Given the description of an element on the screen output the (x, y) to click on. 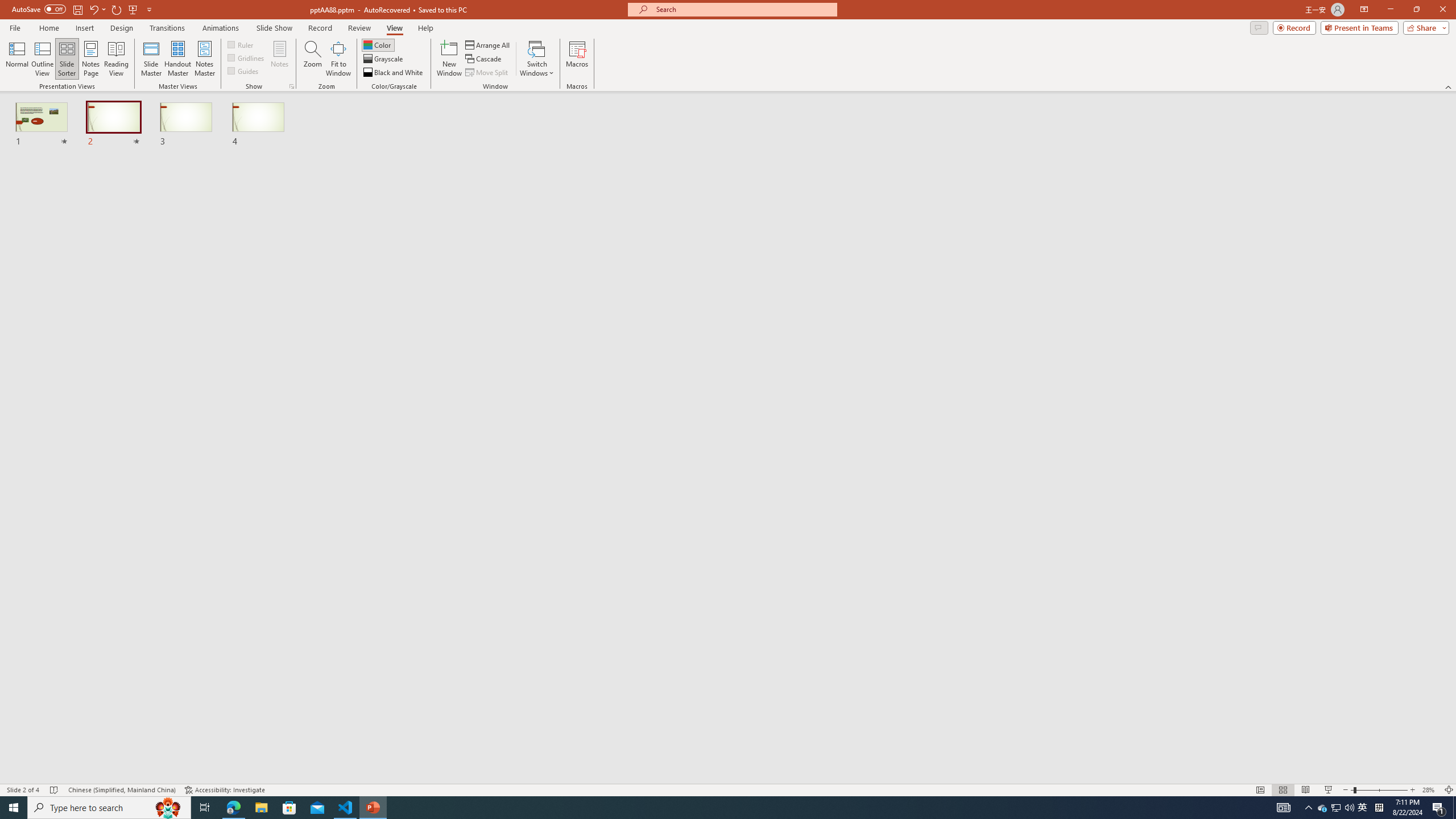
Slide Master (151, 58)
Zoom... (312, 58)
Notes Master (204, 58)
Notes Page (90, 58)
Zoom 28% (1430, 790)
Arrange All (488, 44)
Move Split (487, 72)
